Given the description of an element on the screen output the (x, y) to click on. 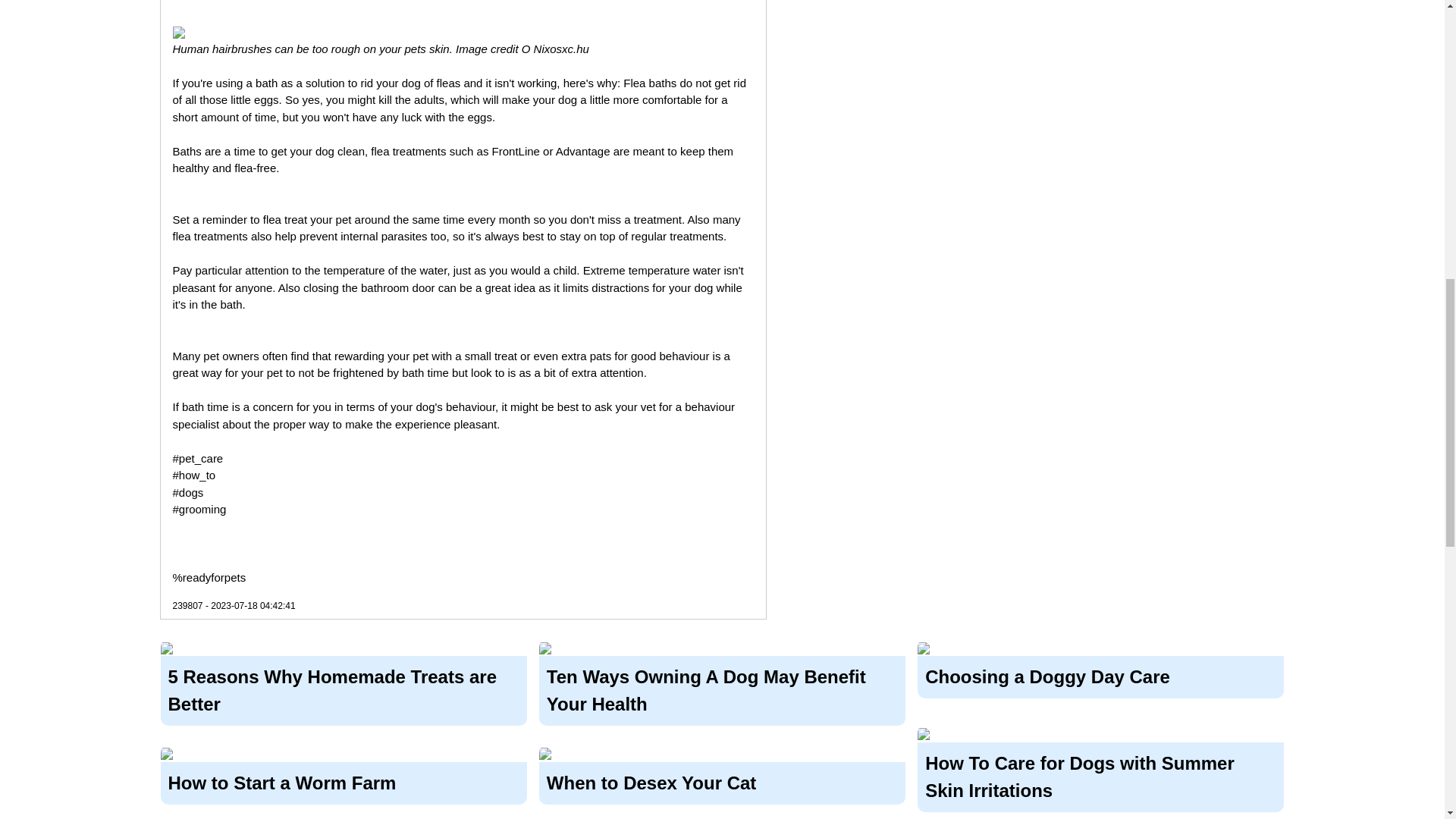
When to Desex Your Cat (721, 779)
How To Care for Dogs with Summer Skin Irritations (1100, 771)
Choosing a Doggy Day Care (1100, 674)
5 Reasons Why Homemade Treats are Better (343, 688)
Ten Ways Owning A Dog May Benefit Your Health (721, 688)
How to Start a Worm Farm (343, 779)
